Given the description of an element on the screen output the (x, y) to click on. 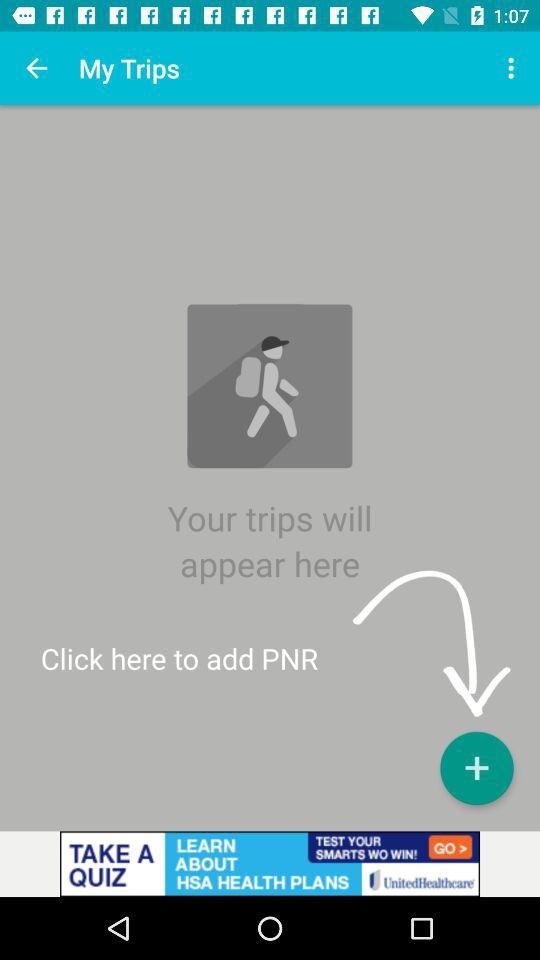
adding button (476, 768)
